Given the description of an element on the screen output the (x, y) to click on. 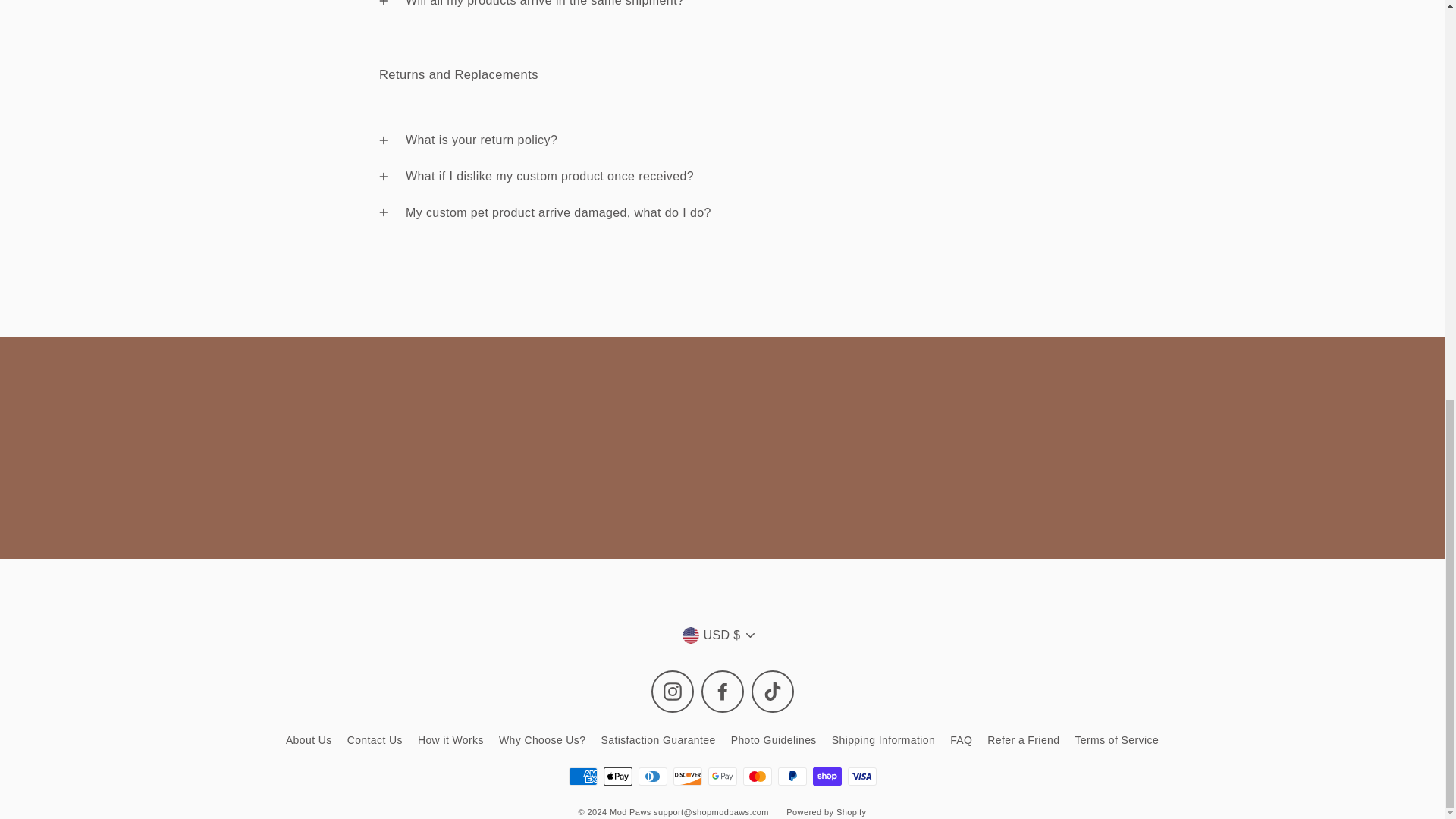
Mod Paws on TikTok (772, 691)
Mod Paws on Facebook (721, 691)
Mod Paws on Instagram (671, 691)
